Given the description of an element on the screen output the (x, y) to click on. 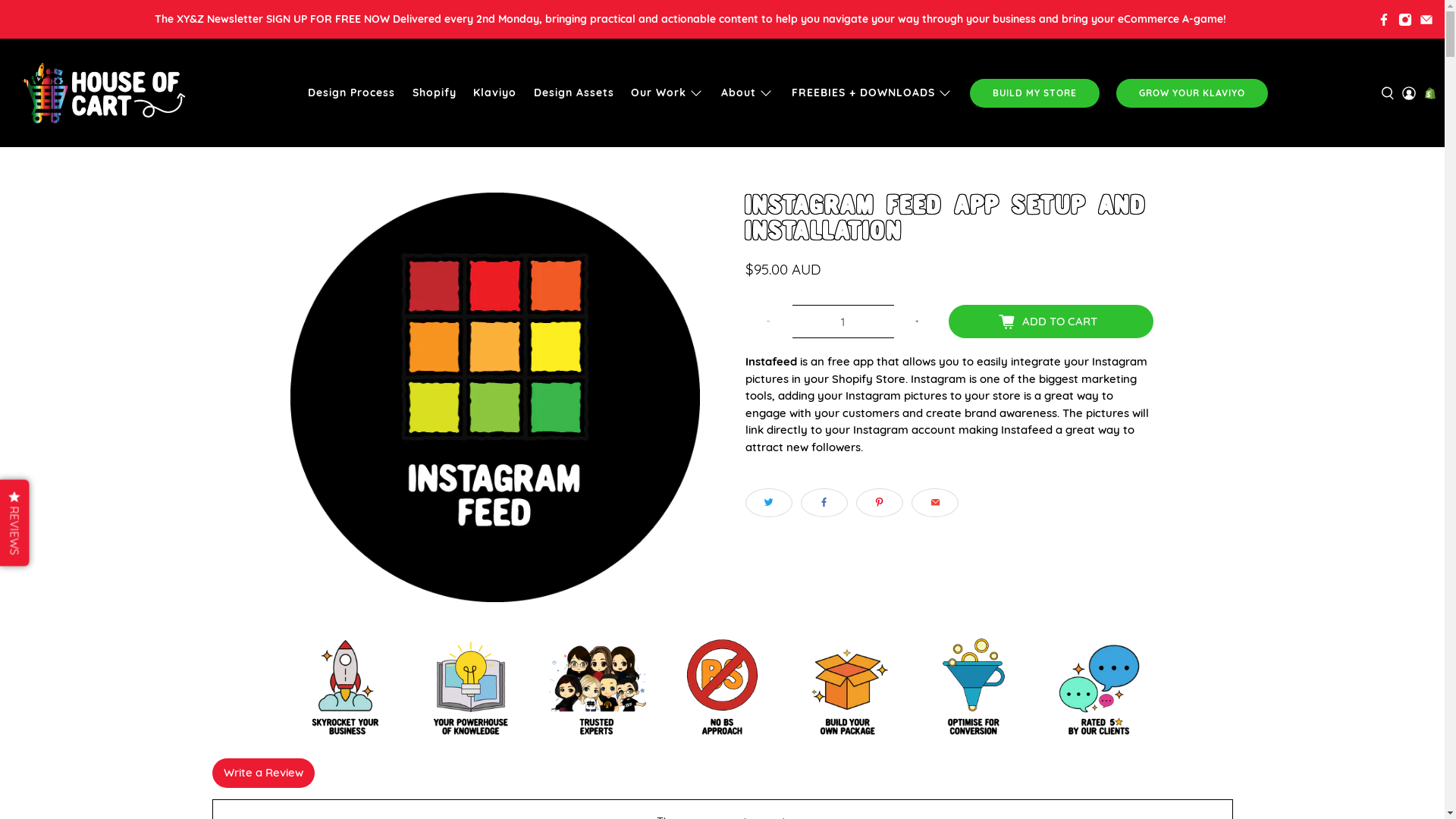
Email this to a friend Element type: hover (934, 502)
BUILD MY STORE Element type: text (1034, 93)
Share this on Facebook Element type: hover (823, 502)
Our Work Element type: text (667, 92)
ADD TO CART Element type: text (1049, 321)
Share this on Twitter Element type: hover (767, 502)
FREEBIES + DOWNLOADS Element type: text (871, 92)
About Element type: text (747, 92)
House of Cart on Facebook Element type: hover (1383, 18)
Share this on Pinterest Element type: hover (879, 502)
GROW YOUR KLAVIYO Element type: text (1192, 93)
Shopify Element type: text (433, 92)
Klaviyo Element type: text (494, 92)
House of Cart Element type: hover (102, 92)
Email House of Cart Element type: hover (1426, 18)
Design Process Element type: text (351, 92)
Write a Review Element type: text (263, 772)
Design Assets Element type: text (573, 92)
House of Cart on Instagram Element type: hover (1405, 18)
